Given the description of an element on the screen output the (x, y) to click on. 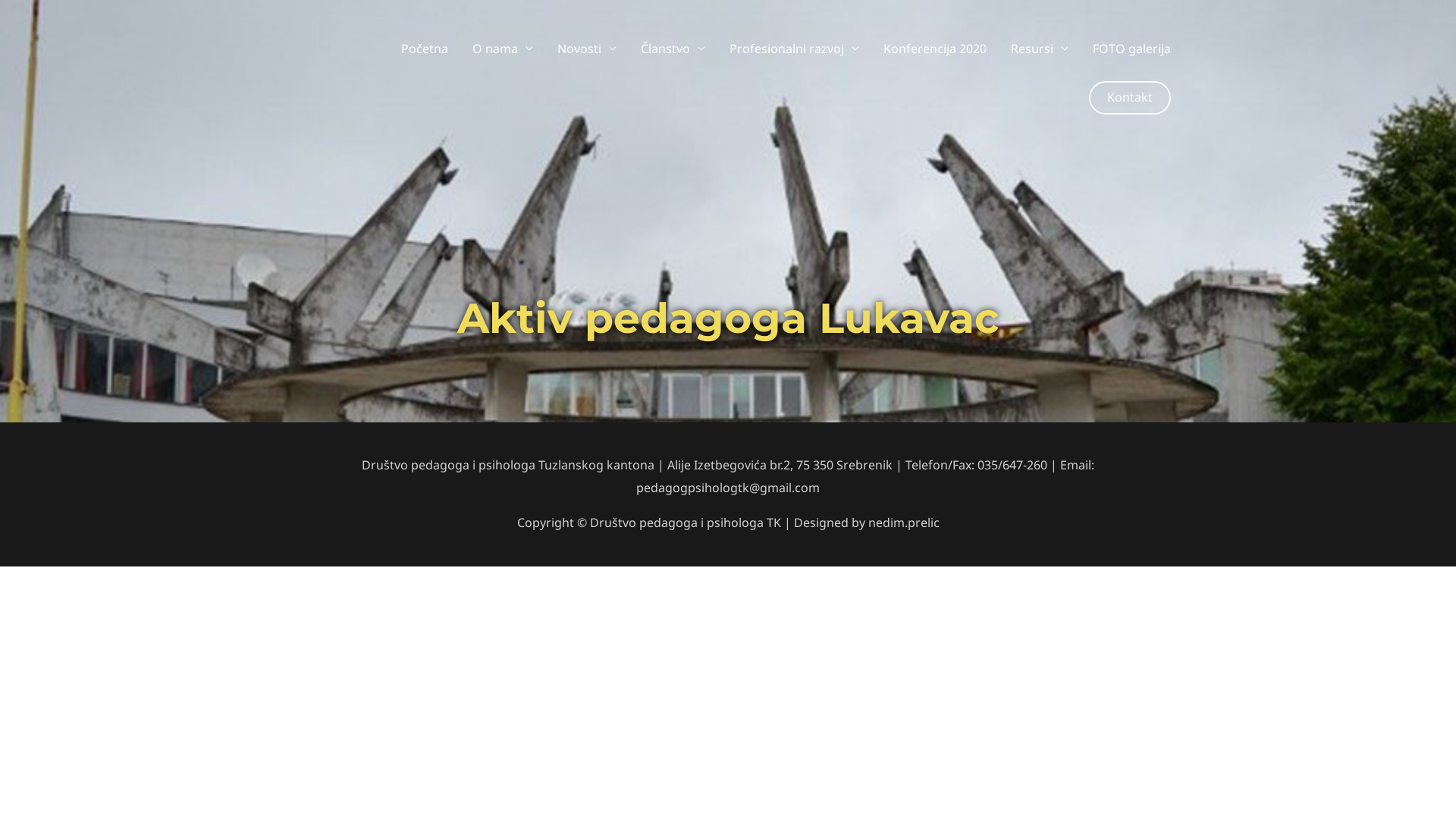
Kontakt Element type: text (1129, 96)
Resursi Element type: text (1039, 48)
FOTO galerija Element type: text (1131, 48)
Konferencija 2020 Element type: text (934, 48)
Novosti Element type: text (586, 48)
O nama Element type: text (502, 48)
Kontakt Element type: text (1129, 97)
Profesionalni razvoj Element type: text (794, 48)
